Given the description of an element on the screen output the (x, y) to click on. 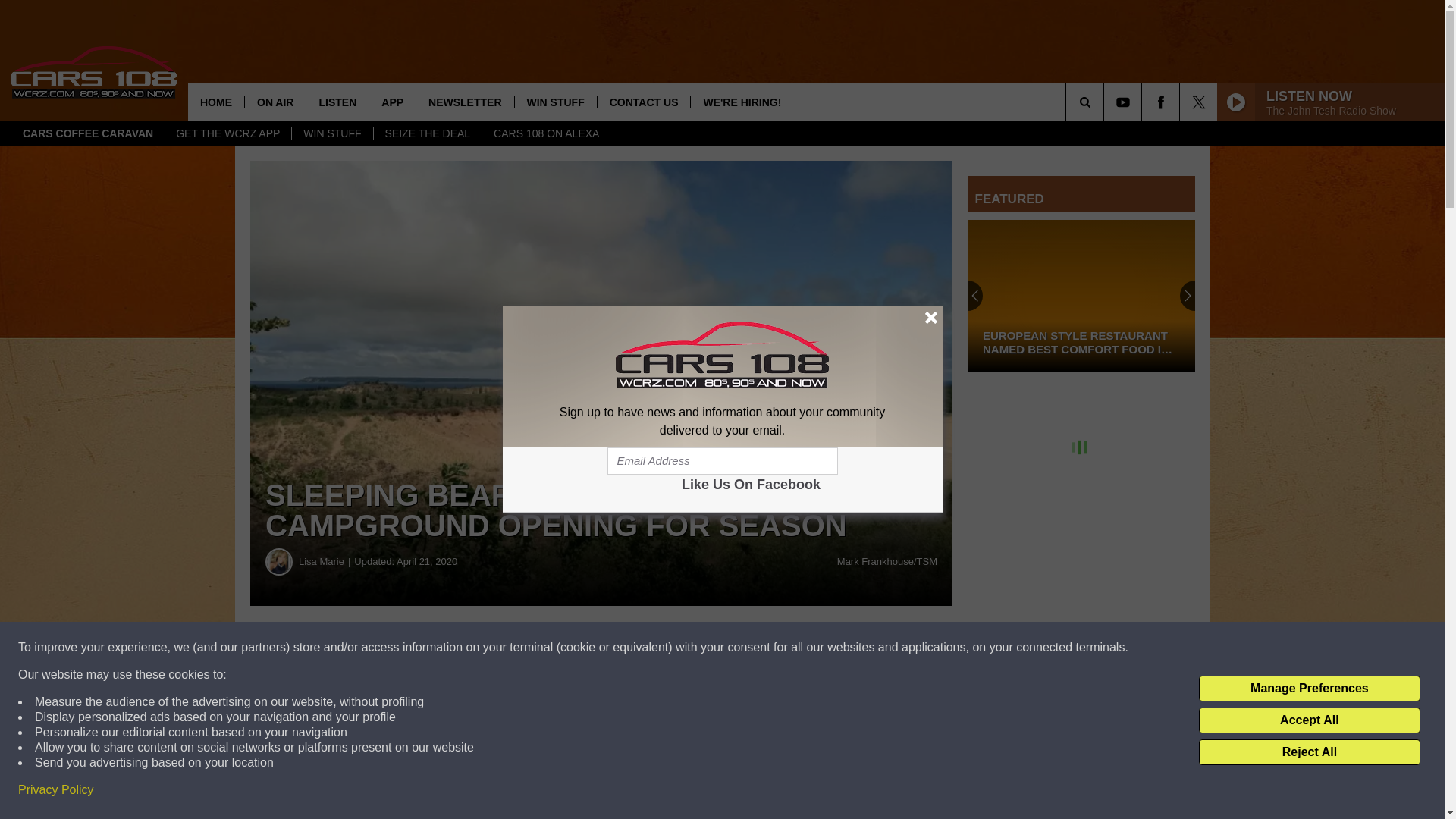
Privacy Policy (55, 789)
GET THE WCRZ APP (227, 133)
Email Address (722, 461)
Reject All (1309, 751)
Share on Twitter (741, 647)
SEARCH (1106, 102)
WIN STUFF (331, 133)
WIN STUFF (554, 102)
SEARCH (1106, 102)
ON AIR (274, 102)
SEIZE THE DEAL (426, 133)
WE'RE HIRING! (741, 102)
Accept All (1309, 720)
Share on Facebook (460, 647)
APP (391, 102)
